Given the description of an element on the screen output the (x, y) to click on. 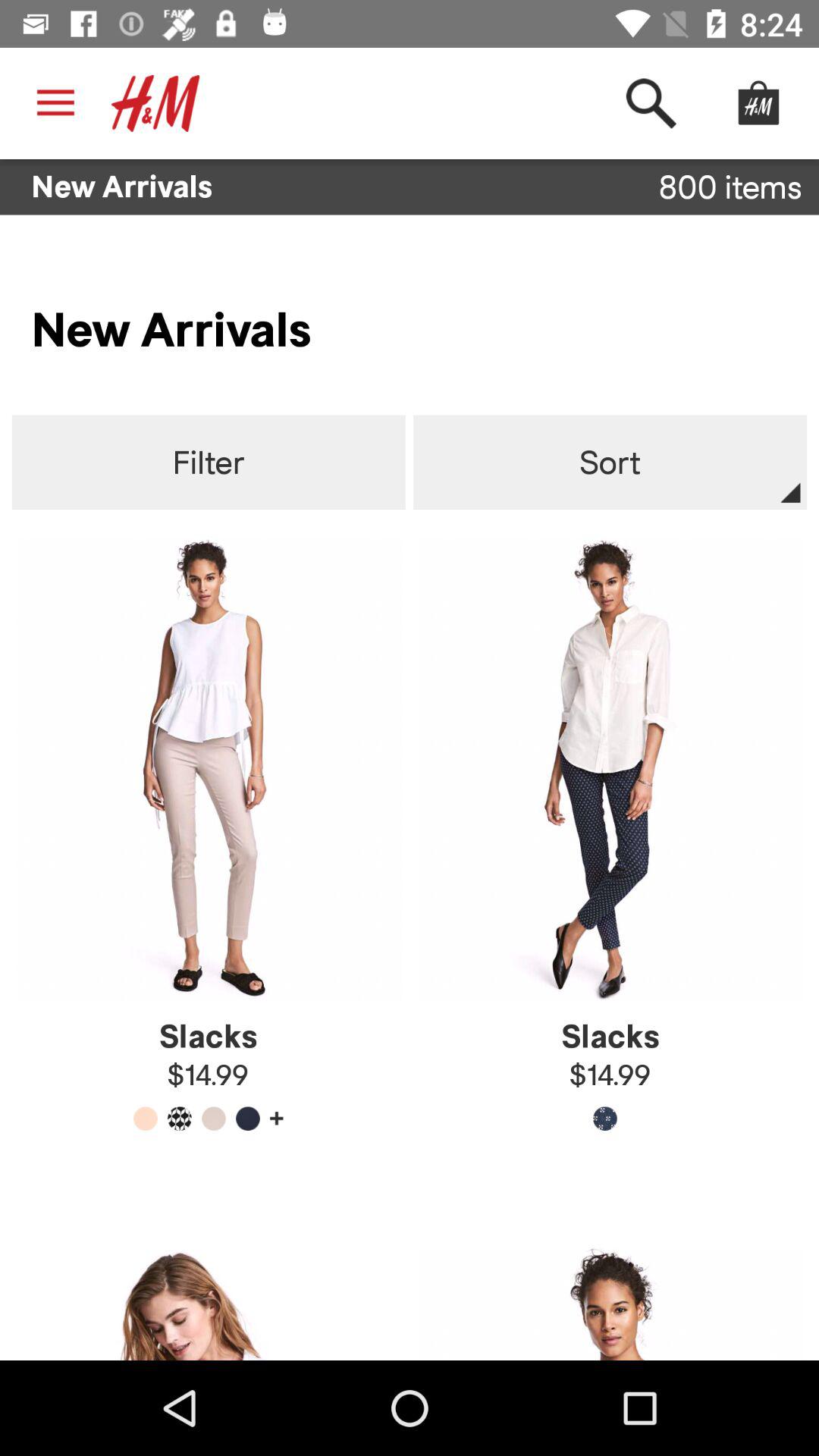
press the icon above the new arrivals icon (55, 103)
